Given the description of an element on the screen output the (x, y) to click on. 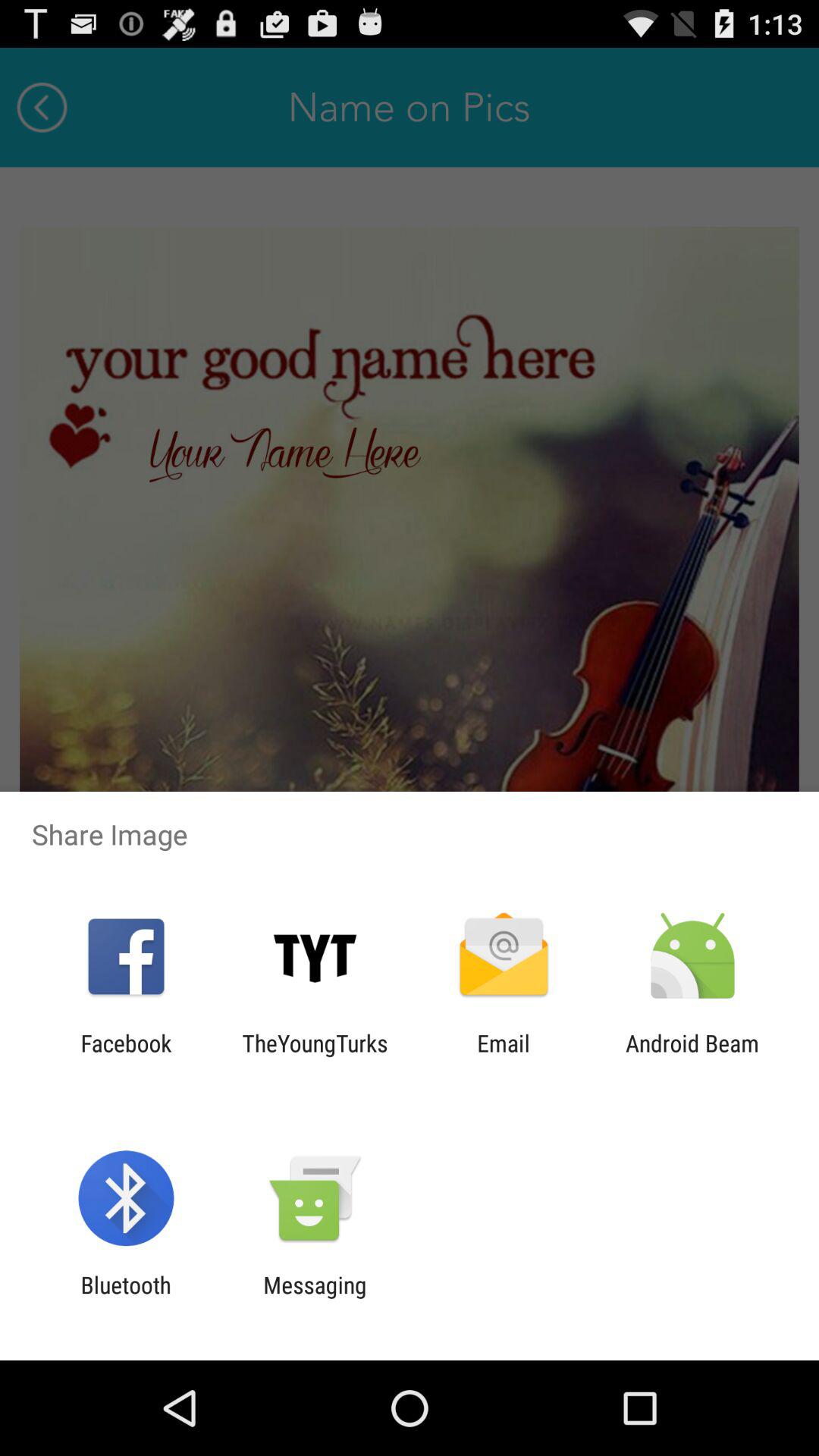
launch app next to the email item (692, 1056)
